Given the description of an element on the screen output the (x, y) to click on. 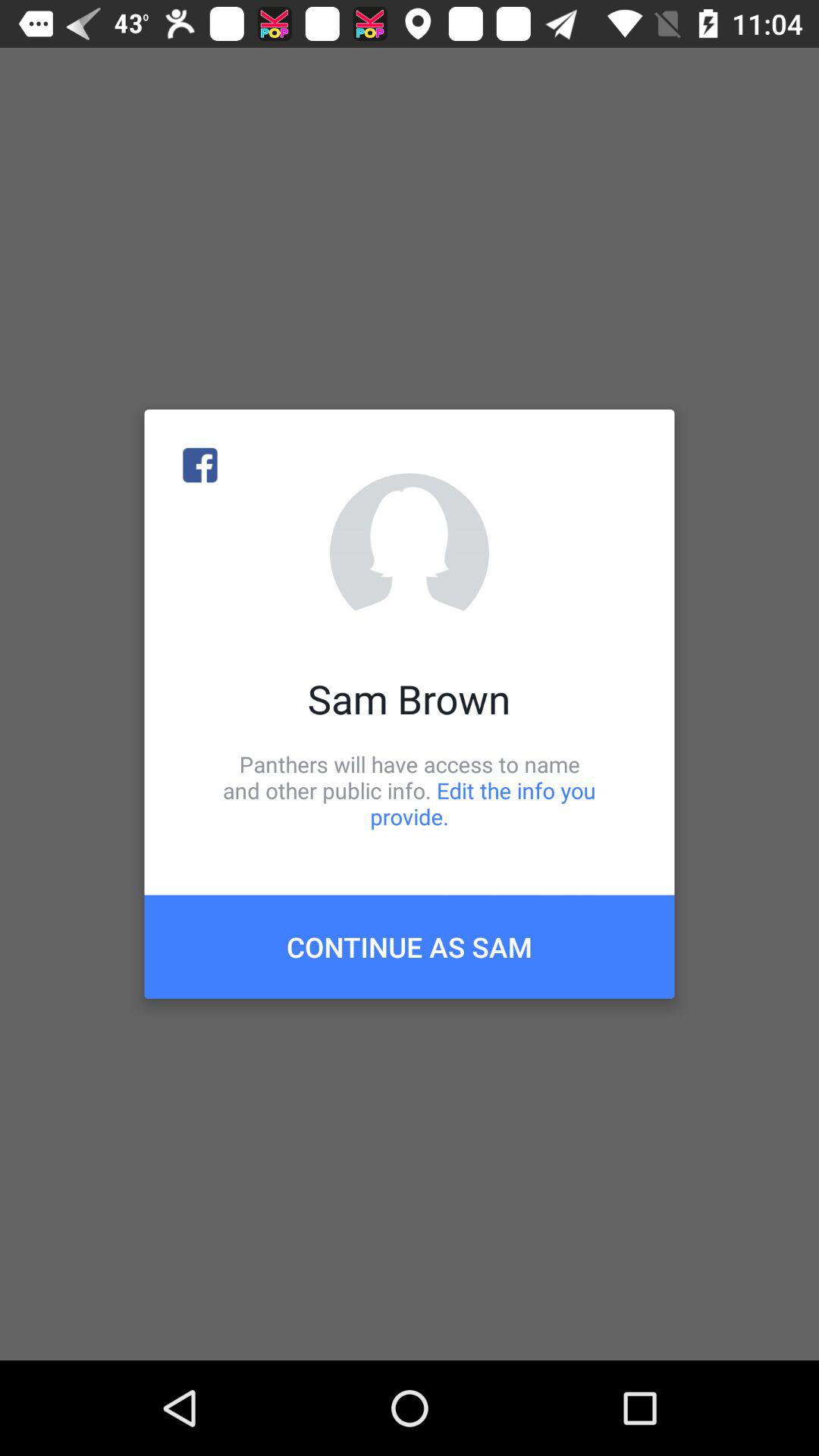
scroll to the continue as sam icon (409, 946)
